Given the description of an element on the screen output the (x, y) to click on. 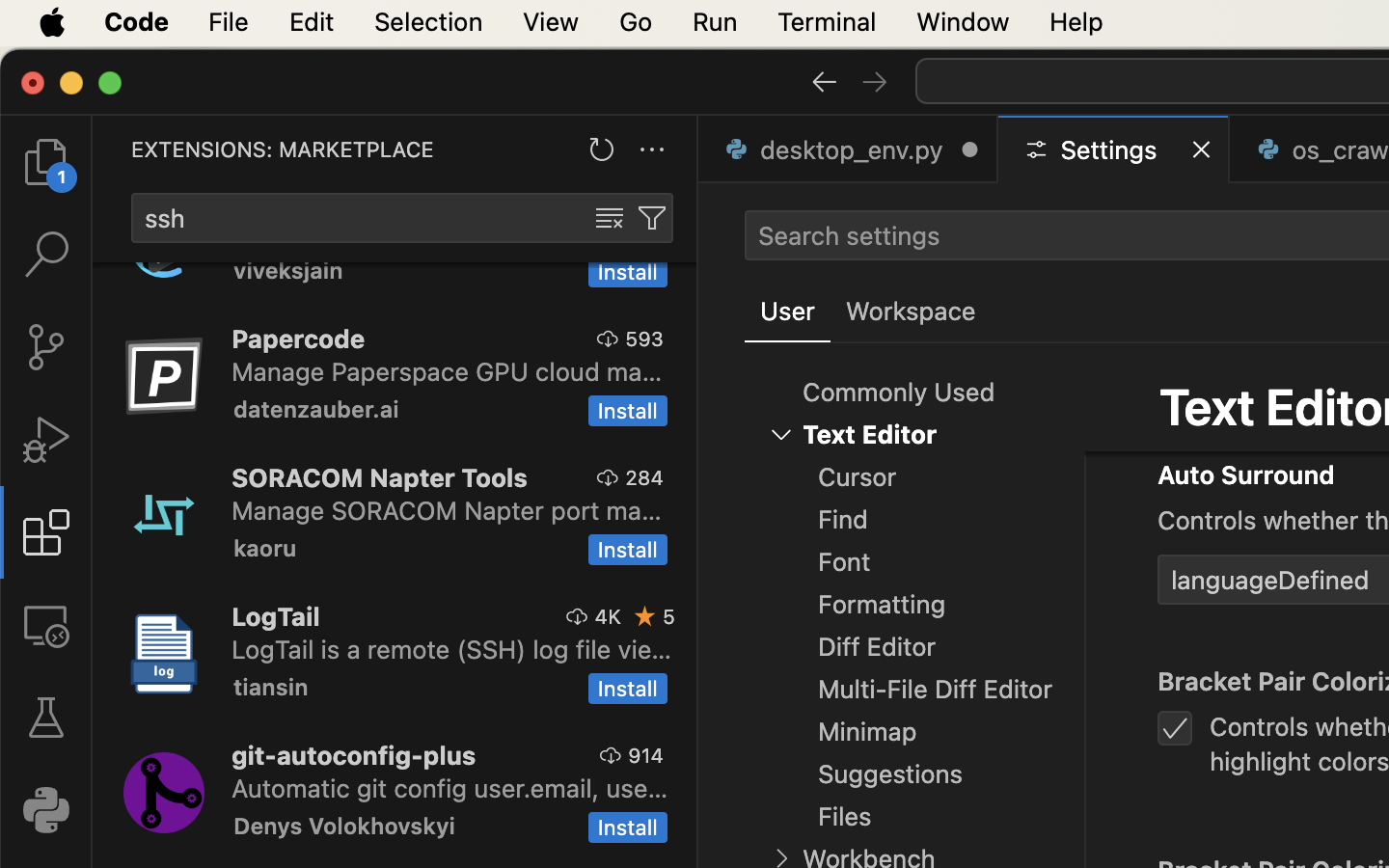
593 Element type: AXStaticText (644, 338)
 Element type: AXButton (874, 80)
0 Element type: AXRadioButton (910, 311)
Denys Volokhovskyi Element type: AXStaticText (344, 825)
1  Element type: AXRadioButton (46, 532)
